Given the description of an element on the screen output the (x, y) to click on. 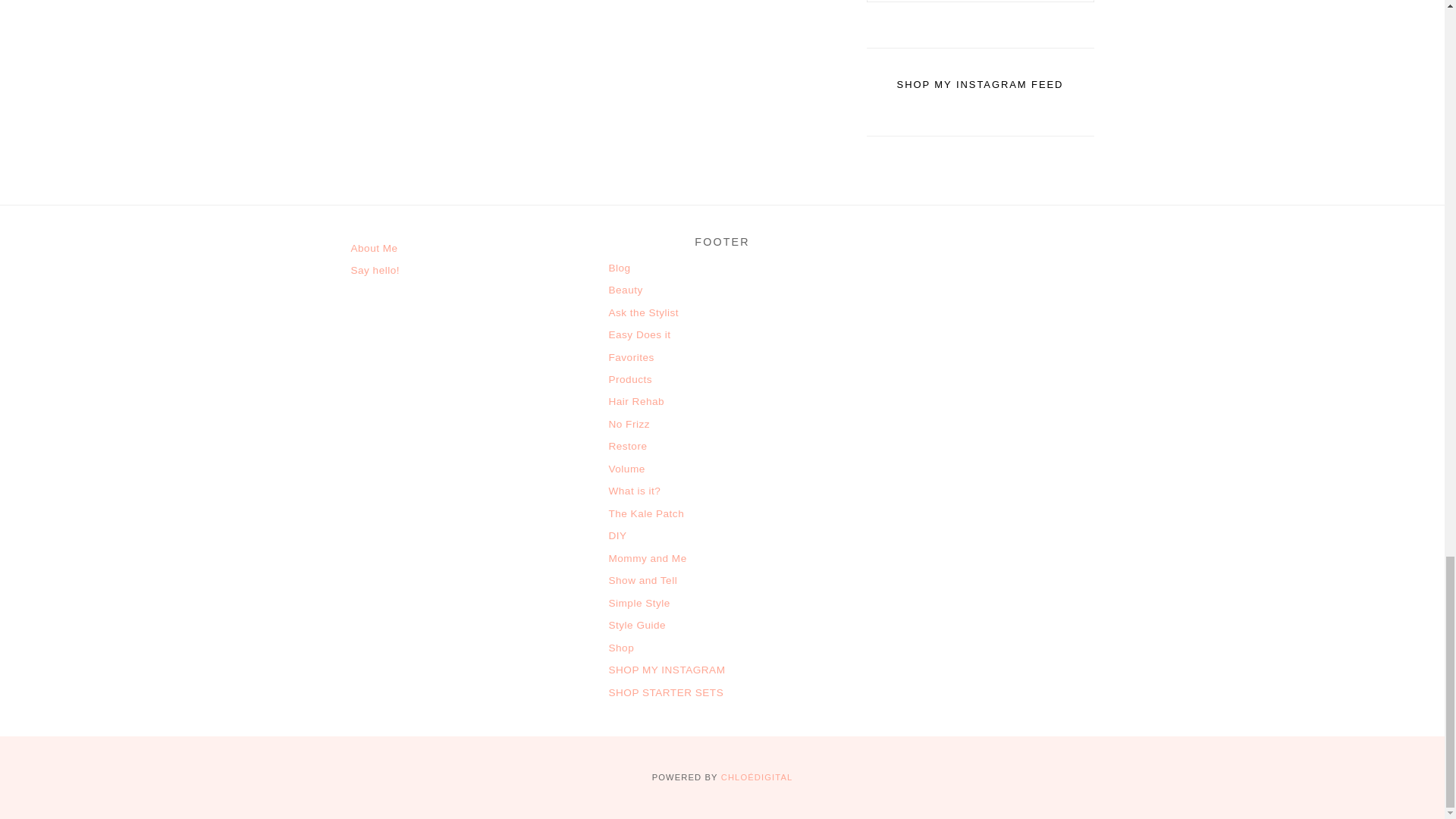
Restore (627, 446)
About Me (373, 247)
No Frizz (628, 423)
Favorites (630, 357)
Products (630, 378)
Hair Rehab (635, 401)
Volume (626, 469)
Say hello! (374, 270)
Easy Does it (638, 334)
Ask the Stylist (643, 312)
